Given the description of an element on the screen output the (x, y) to click on. 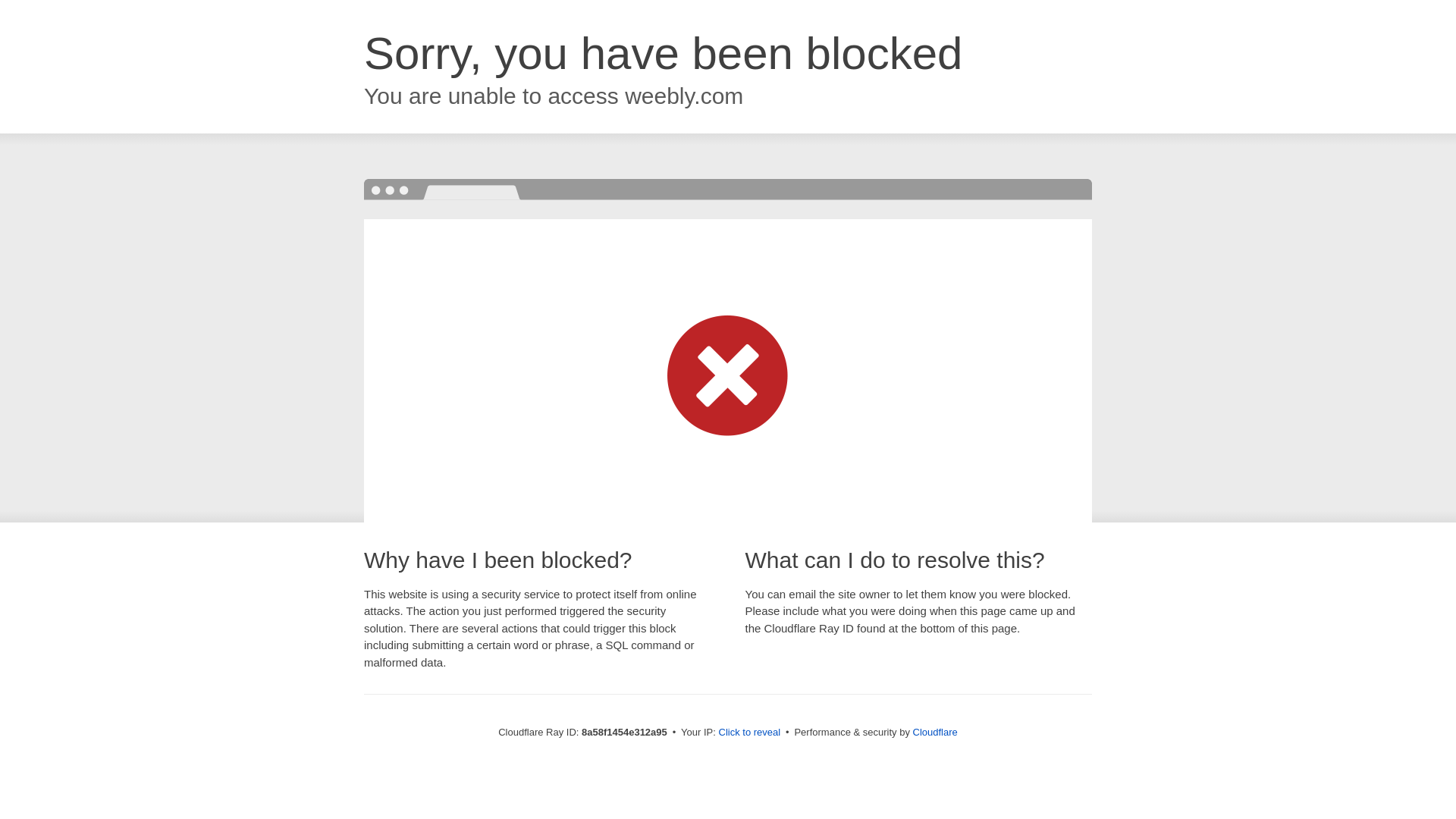
Click to reveal (749, 732)
Cloudflare (935, 731)
